Given the description of an element on the screen output the (x, y) to click on. 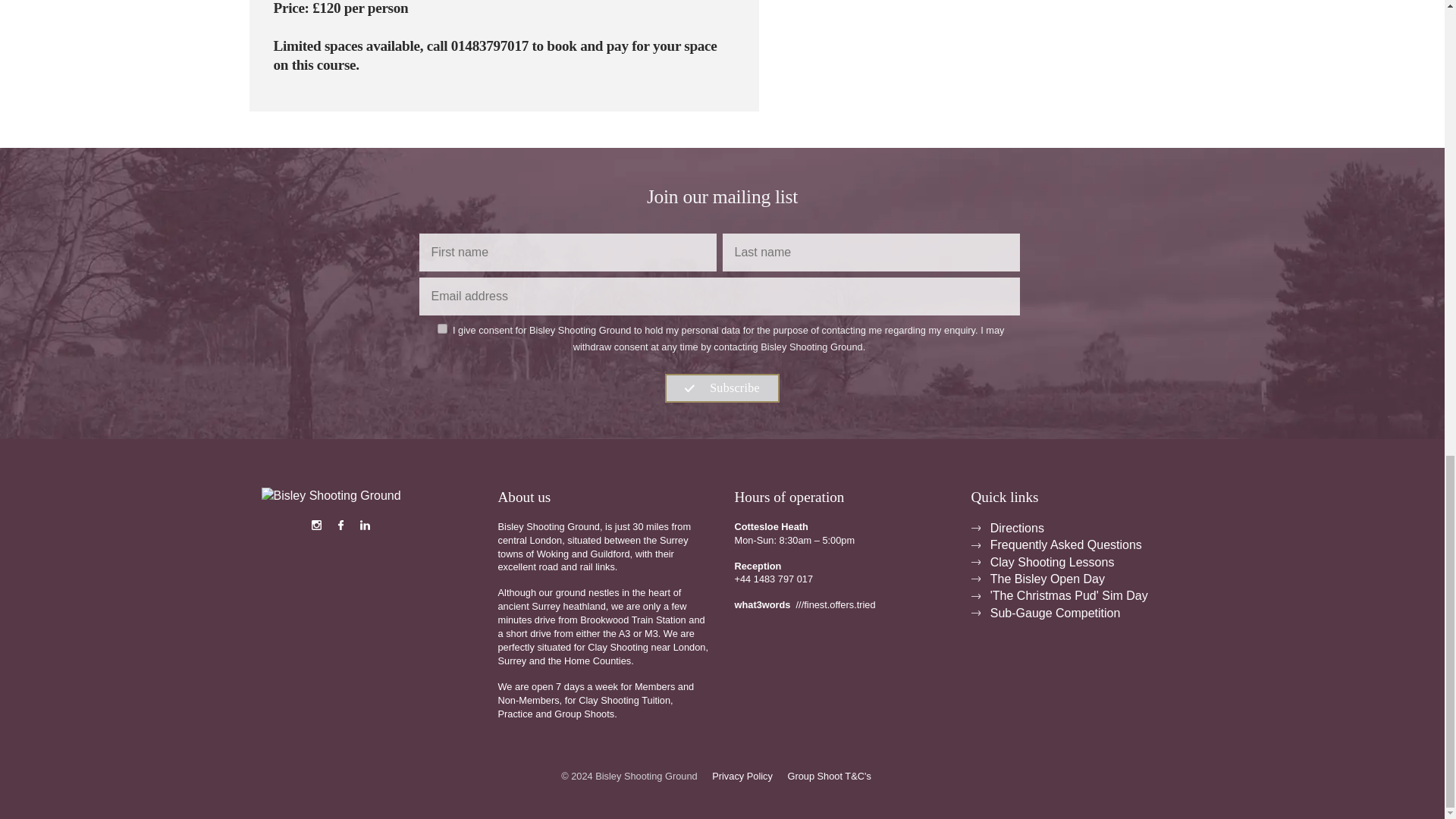
Connect with us on LinkedIn (365, 525)
Follow us on Facebook (340, 525)
Follow us on Instagram (316, 525)
true (442, 328)
